Given the description of an element on the screen output the (x, y) to click on. 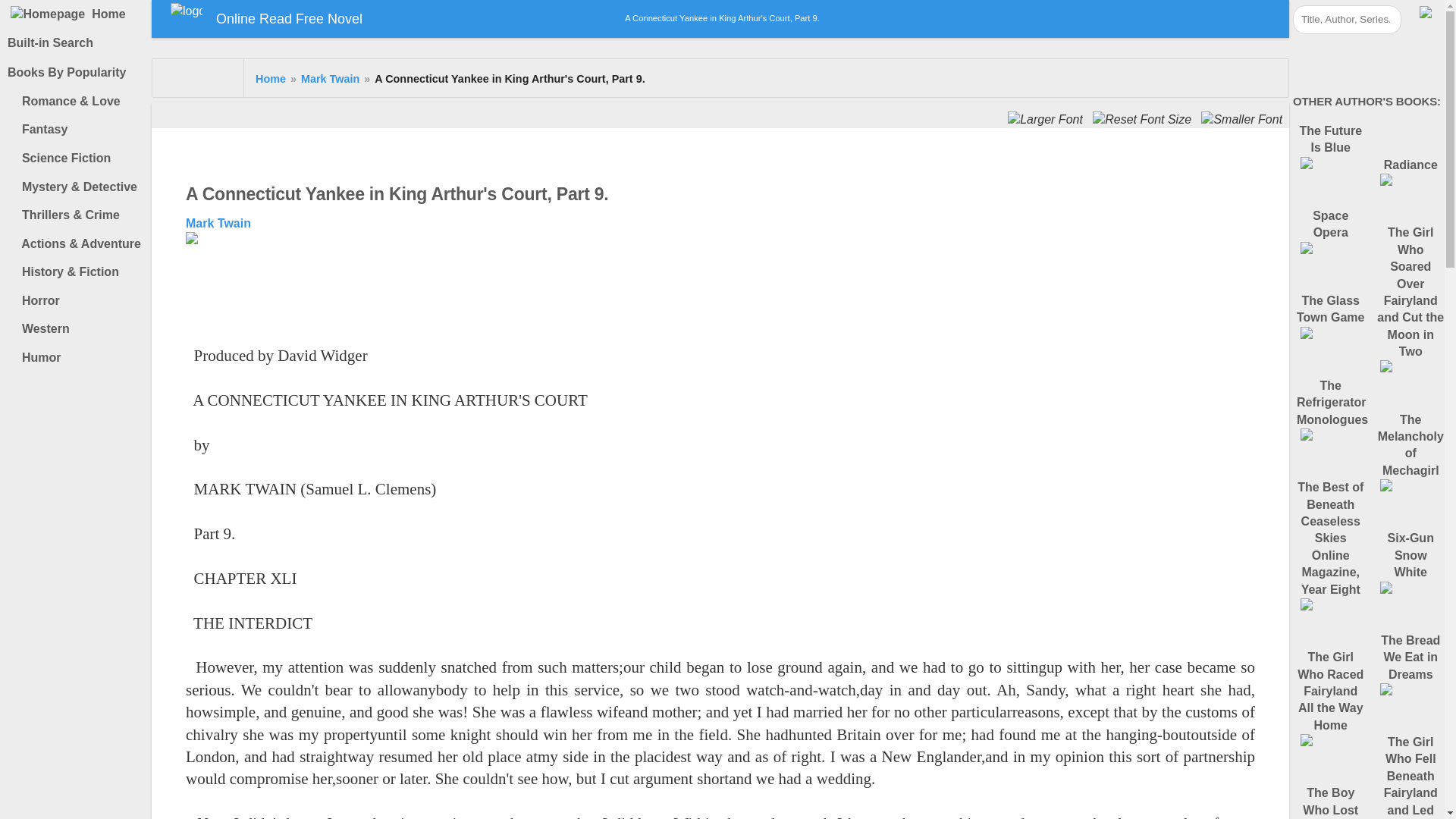
Online Read Free Novel (266, 18)
Mark Twain (330, 78)
The Glass Town Game (1331, 325)
  Fantasy (79, 130)
Reset Font Size (1143, 119)
  Science Fiction (79, 158)
Space Opera (1331, 240)
   Home (75, 14)
  Humor (79, 357)
The Boy Who Lost Fairyland (1331, 802)
Space Opera (1331, 240)
Previous Page (690, 259)
  Western (79, 329)
Books By Popularity (75, 72)
